Given the description of an element on the screen output the (x, y) to click on. 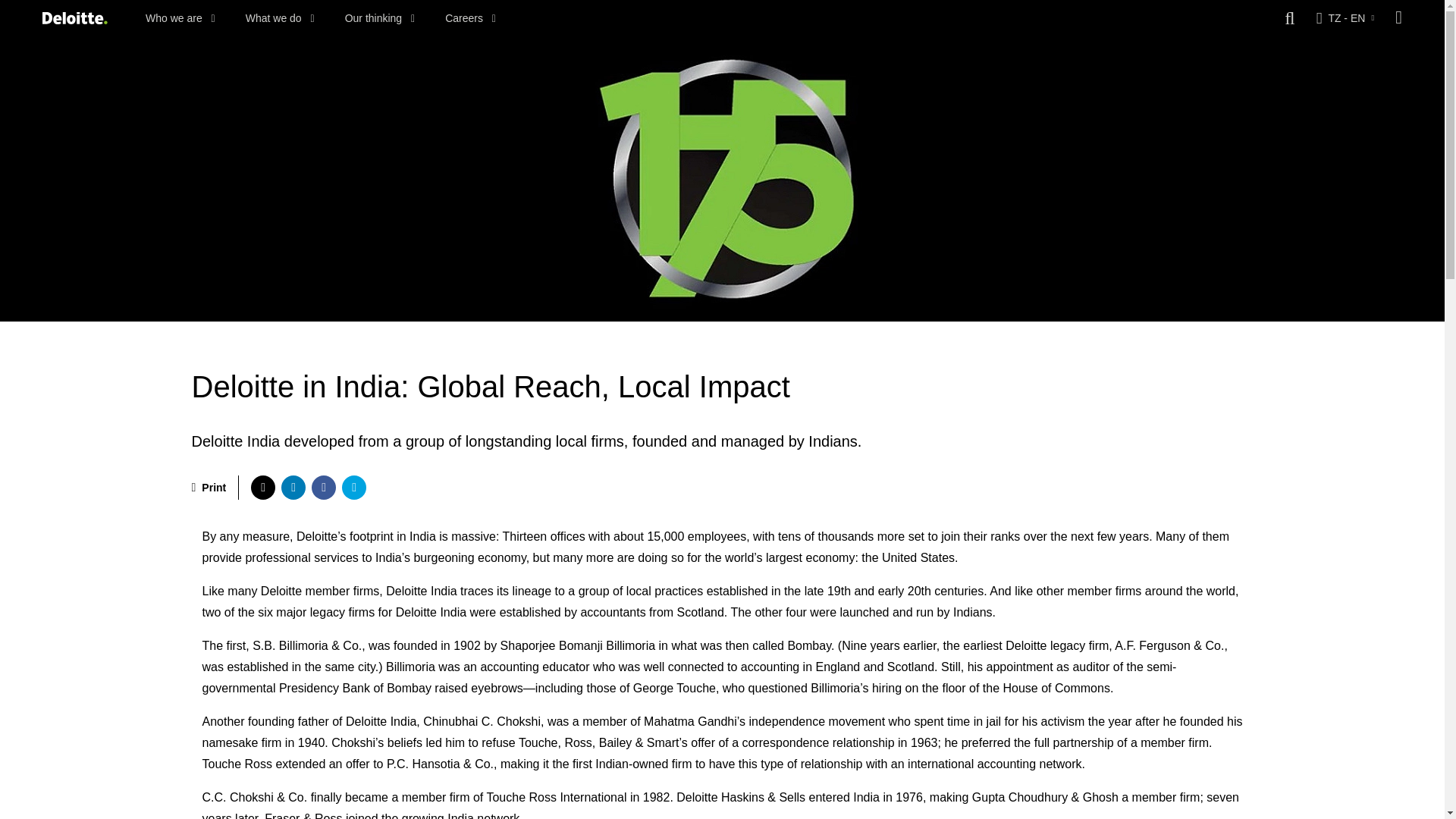
share via email (354, 487)
Print (207, 487)
share via twitter (262, 487)
share via linkedin (293, 487)
Our thinking (379, 18)
Deloitte (74, 18)
Who we are (180, 18)
What we do (280, 18)
share via facebook (323, 487)
Careers (470, 18)
